Given the description of an element on the screen output the (x, y) to click on. 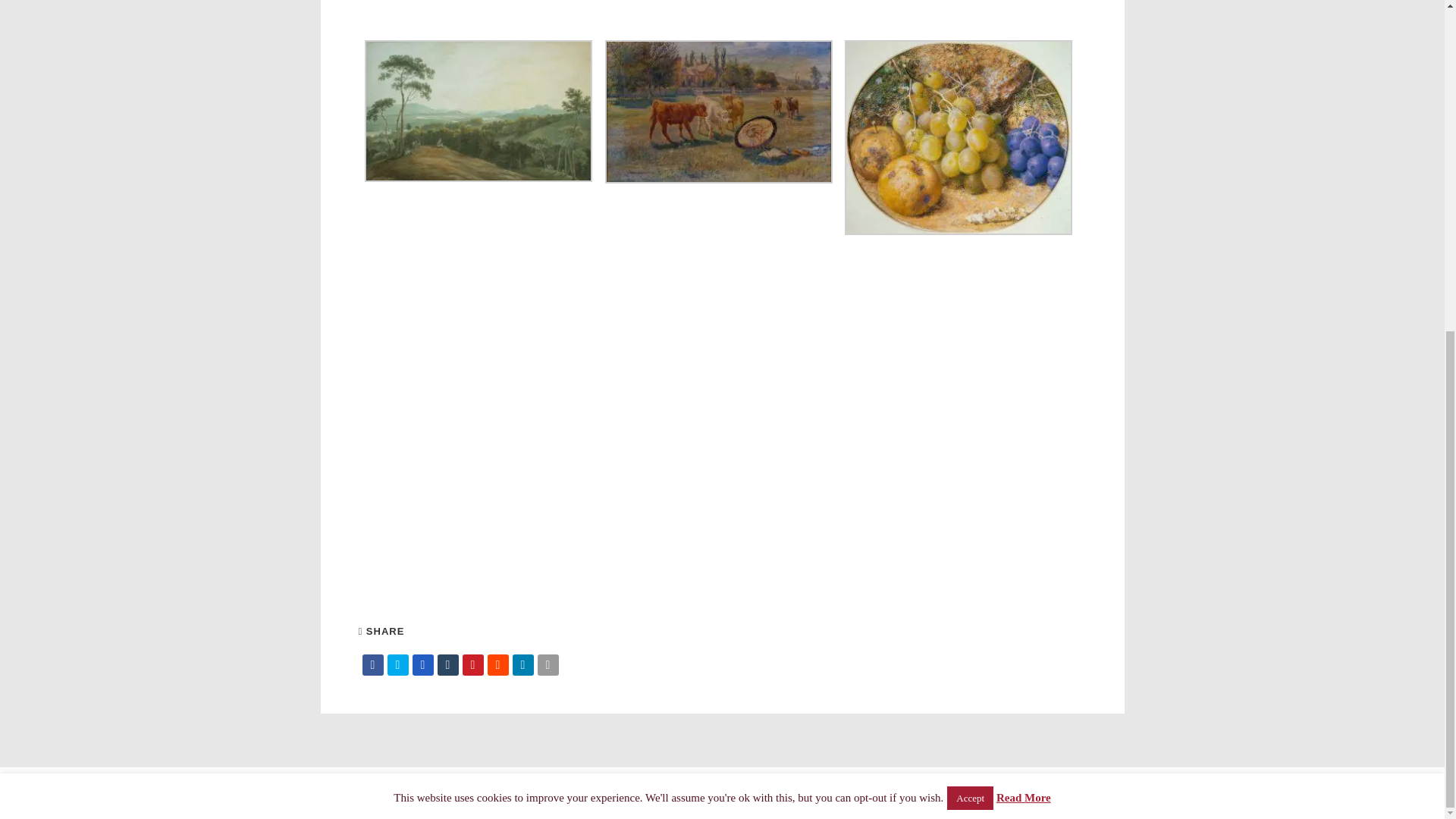
Submit to Reddit (497, 664)
Pin it (473, 664)
Share on Facebook (373, 664)
Tweet (397, 664)
Email (547, 664)
Share on LinkedIn (523, 664)
Post to Tumblr (447, 664)
